Given the description of an element on the screen output the (x, y) to click on. 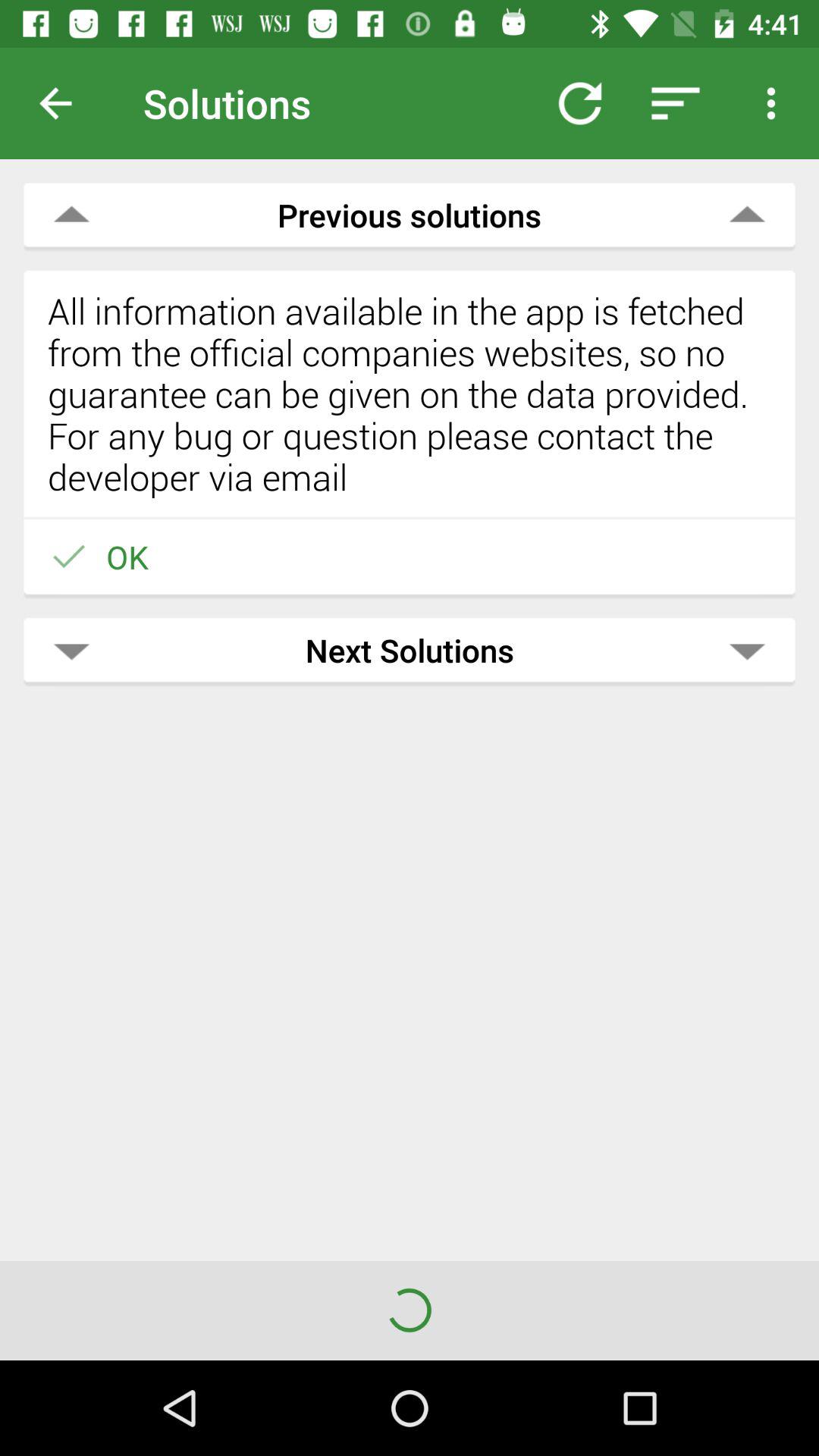
previous page (67, 103)
